Given the description of an element on the screen output the (x, y) to click on. 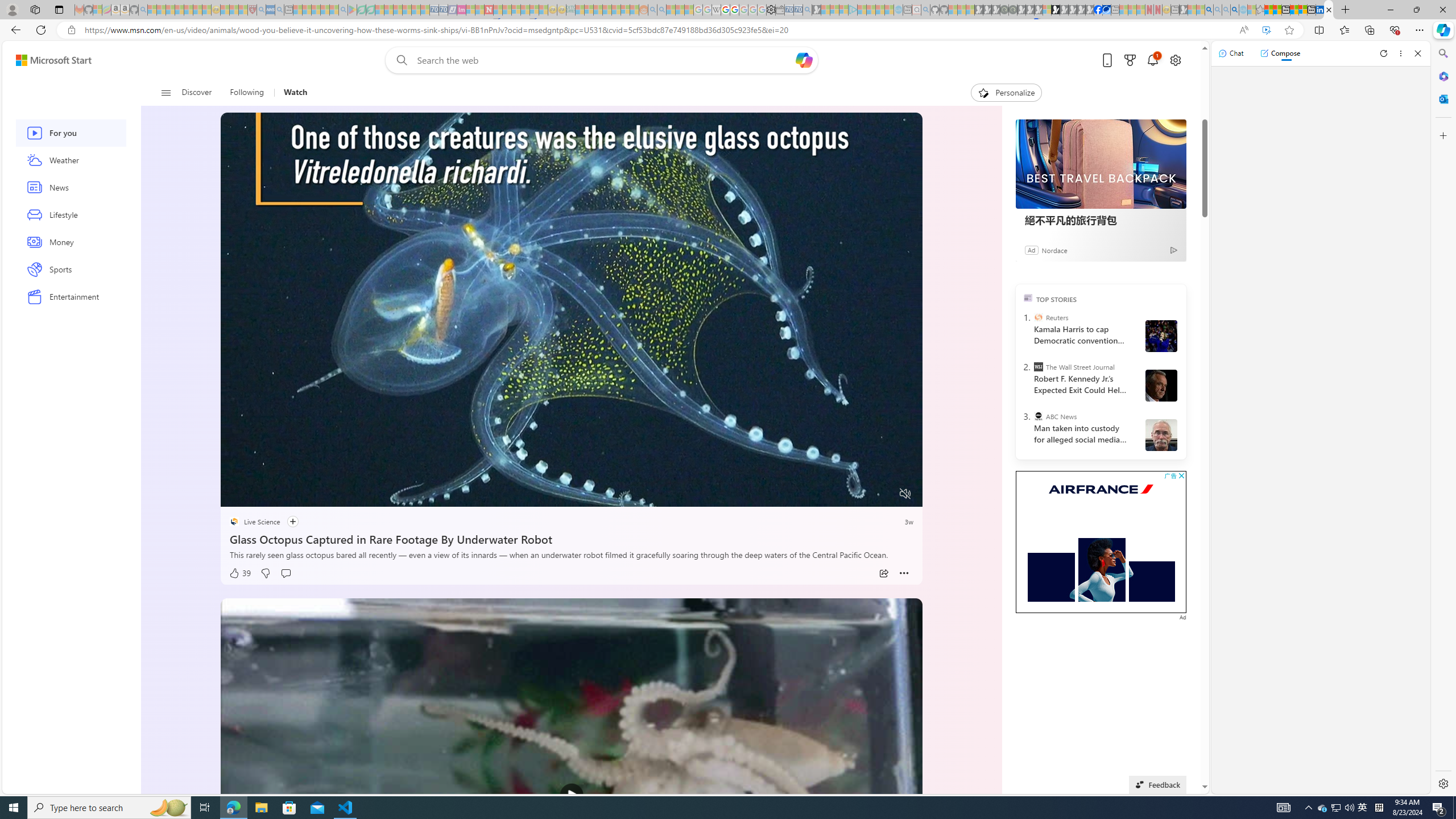
Utah sues federal government - Search - Sleeping (661, 9)
Progress Bar (571, 479)
Home | Sky Blue Bikes - Sky Blue Bikes - Sleeping (898, 9)
Follow (292, 521)
39 Like (240, 573)
utah sues federal government - Search - Sleeping (279, 9)
